Given the description of an element on the screen output the (x, y) to click on. 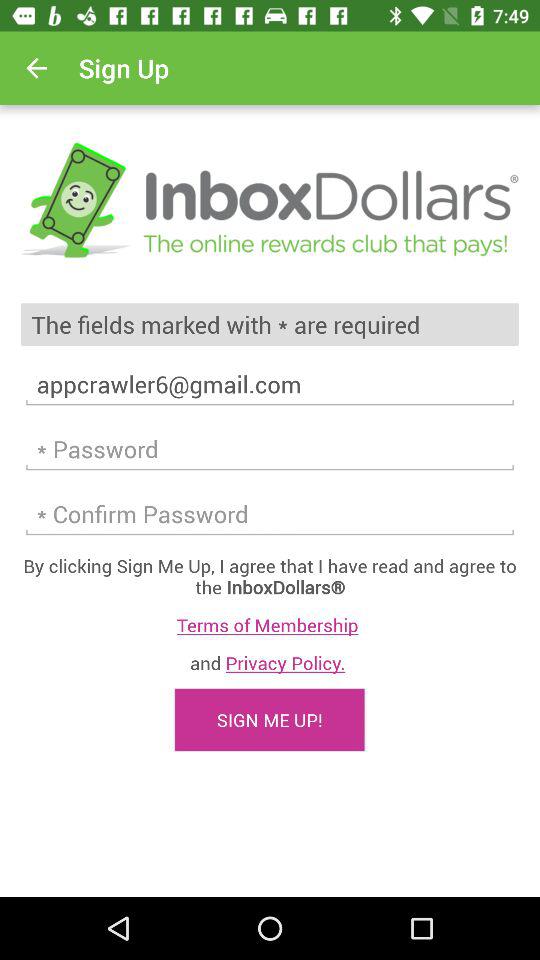
swipe until the appcrawler6@gmail.com item (270, 384)
